Given the description of an element on the screen output the (x, y) to click on. 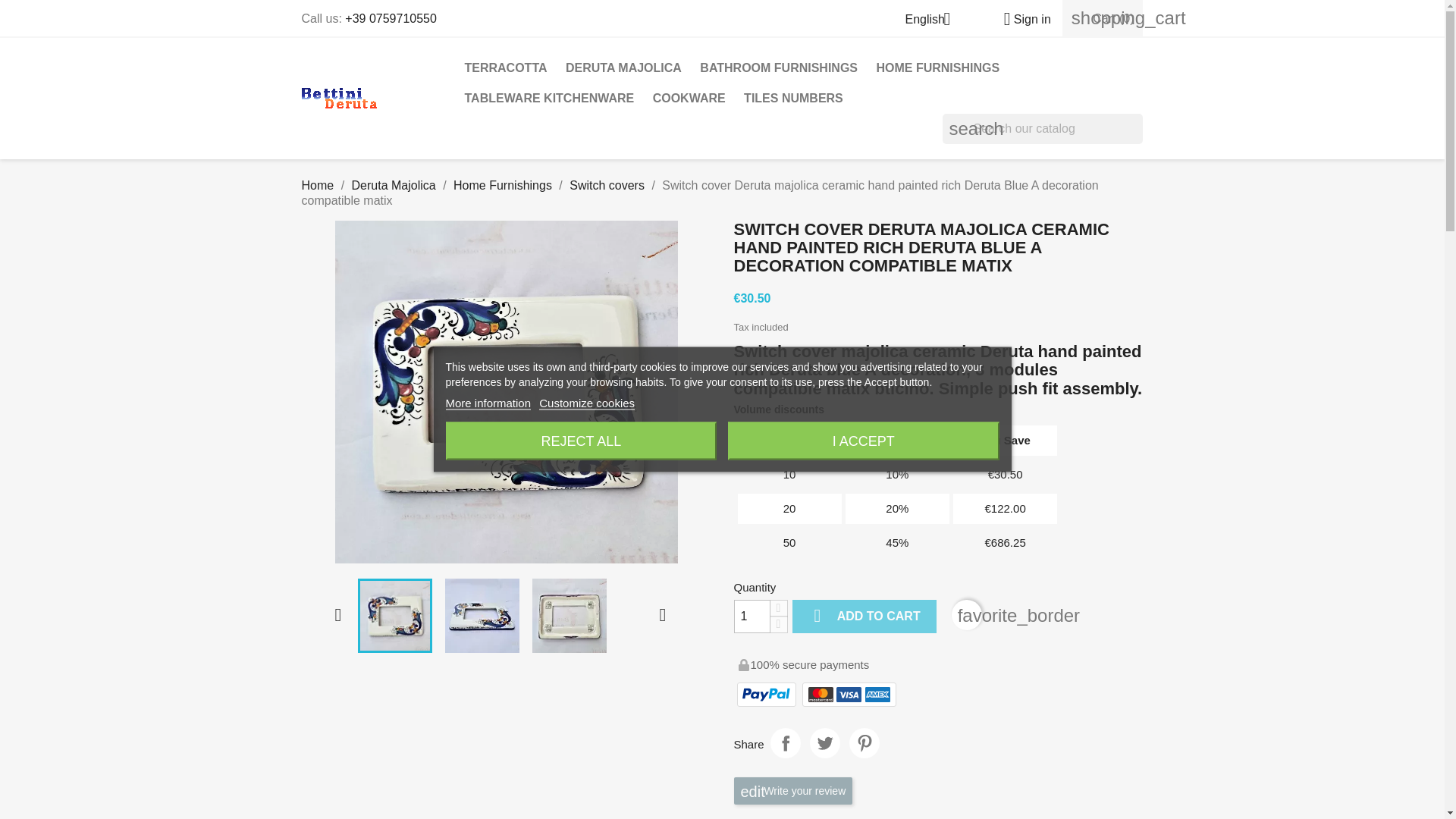
Share (785, 743)
Log in to your customer account (1020, 19)
Pinterest (863, 743)
1 (751, 616)
Tweet (824, 743)
TERRACOTTA (505, 68)
DERUTA MAJOLICA (622, 68)
